Given the description of an element on the screen output the (x, y) to click on. 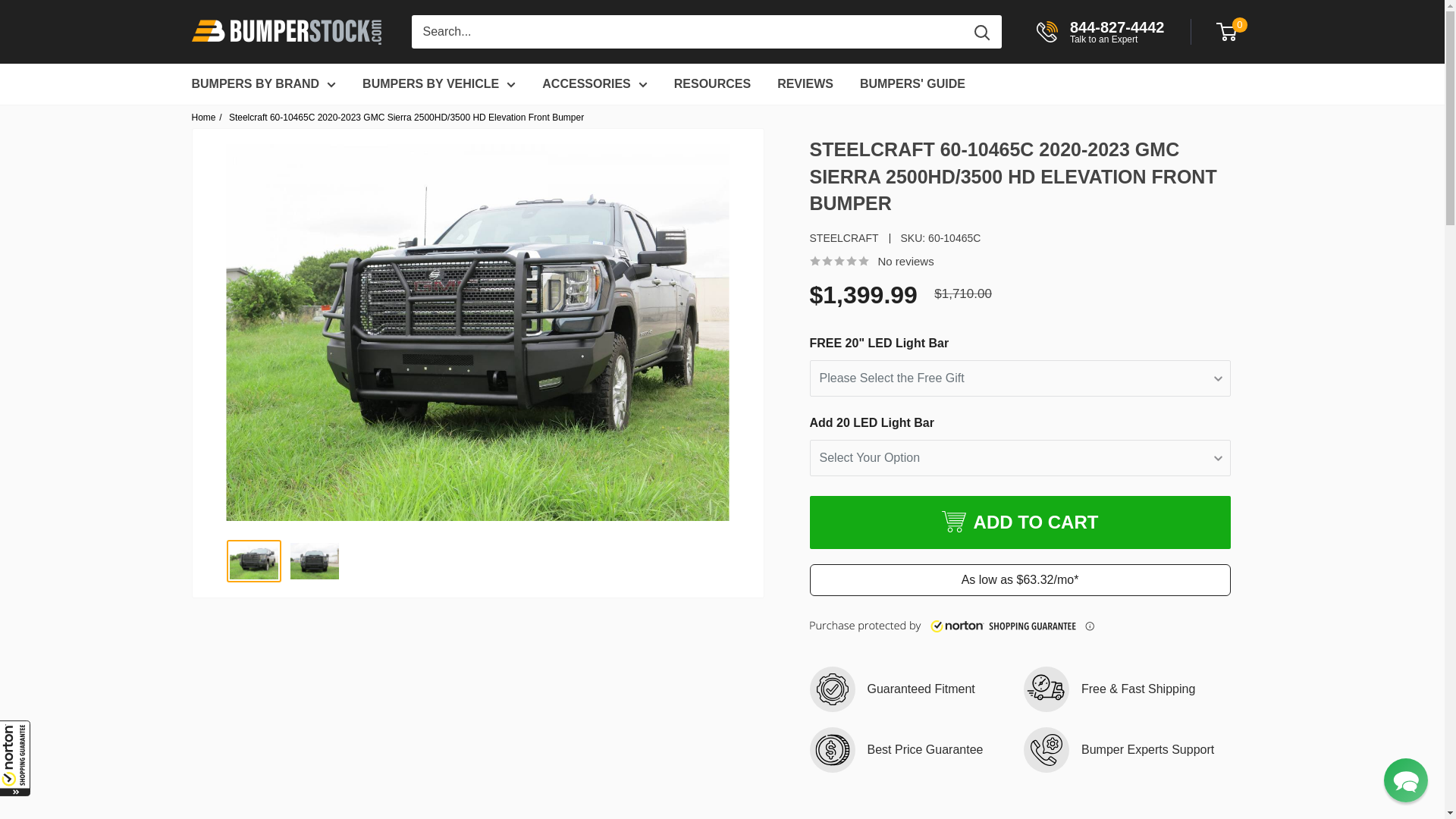
Call us today 8448274442 (1098, 31)
Unused iFrame 1 (15, 758)
